Given the description of an element on the screen output the (x, y) to click on. 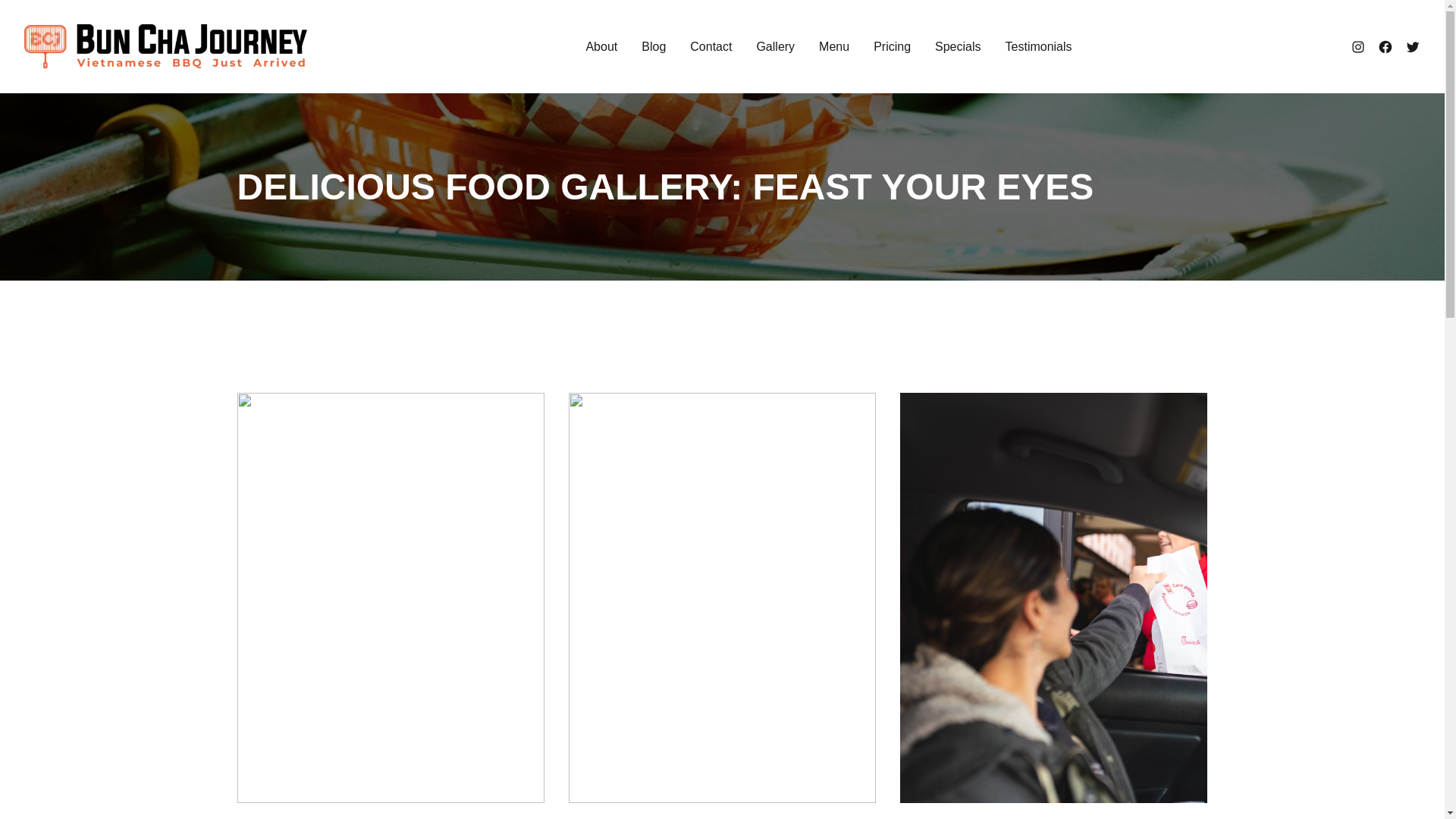
Testimonials (1038, 46)
Pricing (892, 46)
Contact (711, 46)
Gallery (774, 46)
Instagram (1358, 46)
Facebook (1385, 46)
Menu (833, 46)
Blog (653, 46)
Twitter (1413, 46)
About (601, 46)
Specials (956, 46)
